Given the description of an element on the screen output the (x, y) to click on. 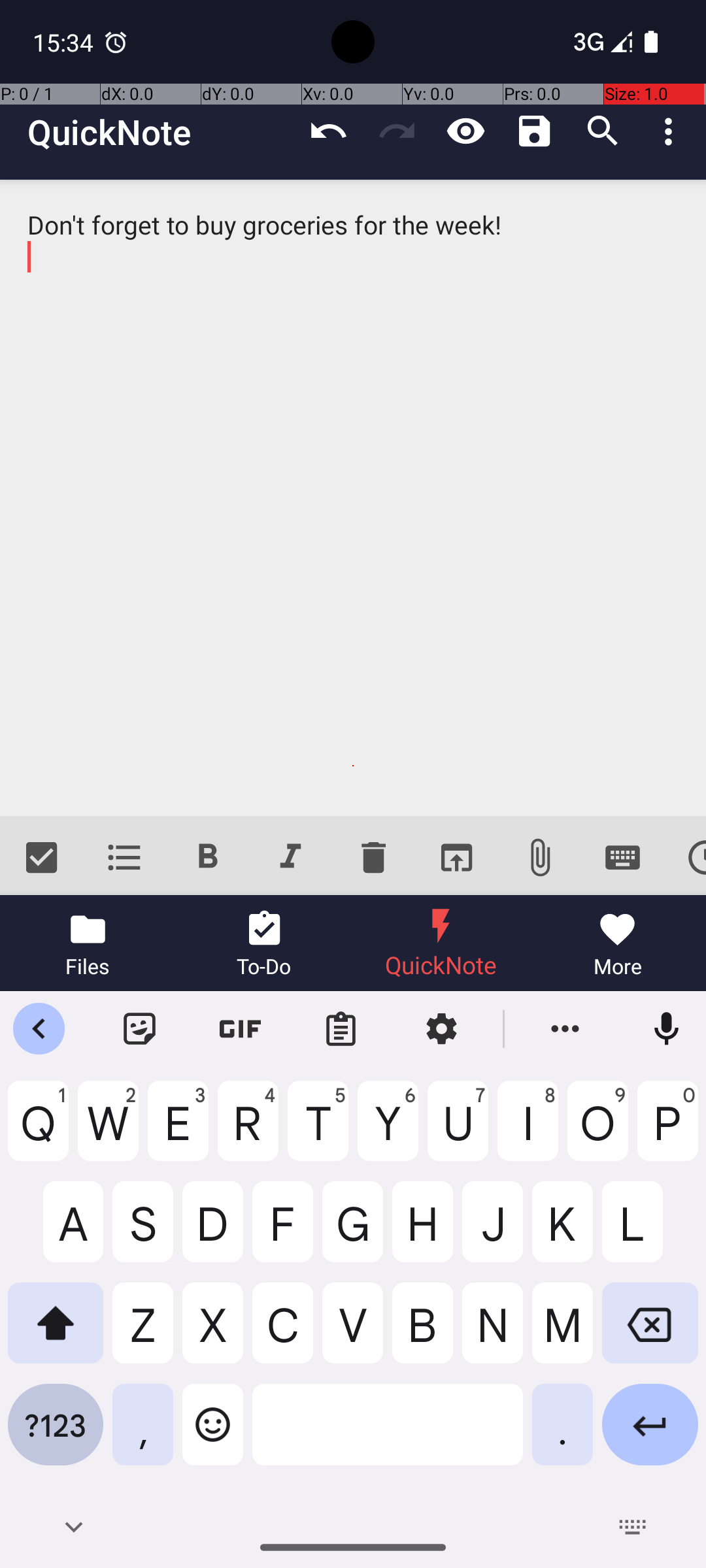
Don't forget to buy groceries for the week!
 Element type: android.widget.EditText (353, 497)
